Given the description of an element on the screen output the (x, y) to click on. 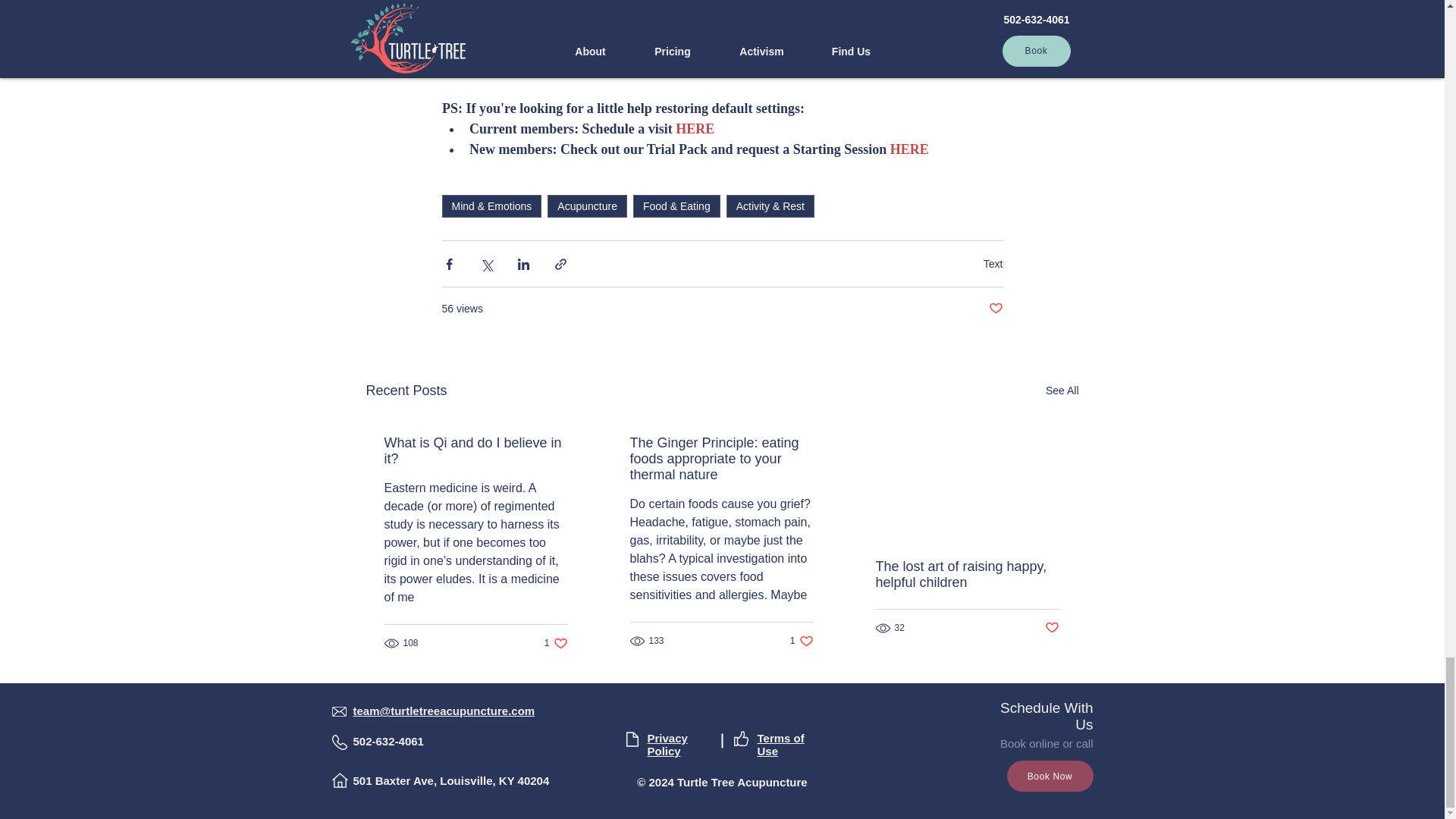
Text (993, 263)
HERE (694, 128)
Post not marked as liked (1052, 627)
HERE (908, 149)
Acupuncture (587, 205)
The lost art of raising happy, helpful children (801, 640)
See All (555, 642)
What is Qi and do I believe in it? (966, 574)
Post not marked as liked (1061, 391)
502-632-4061 (475, 450)
